Given the description of an element on the screen output the (x, y) to click on. 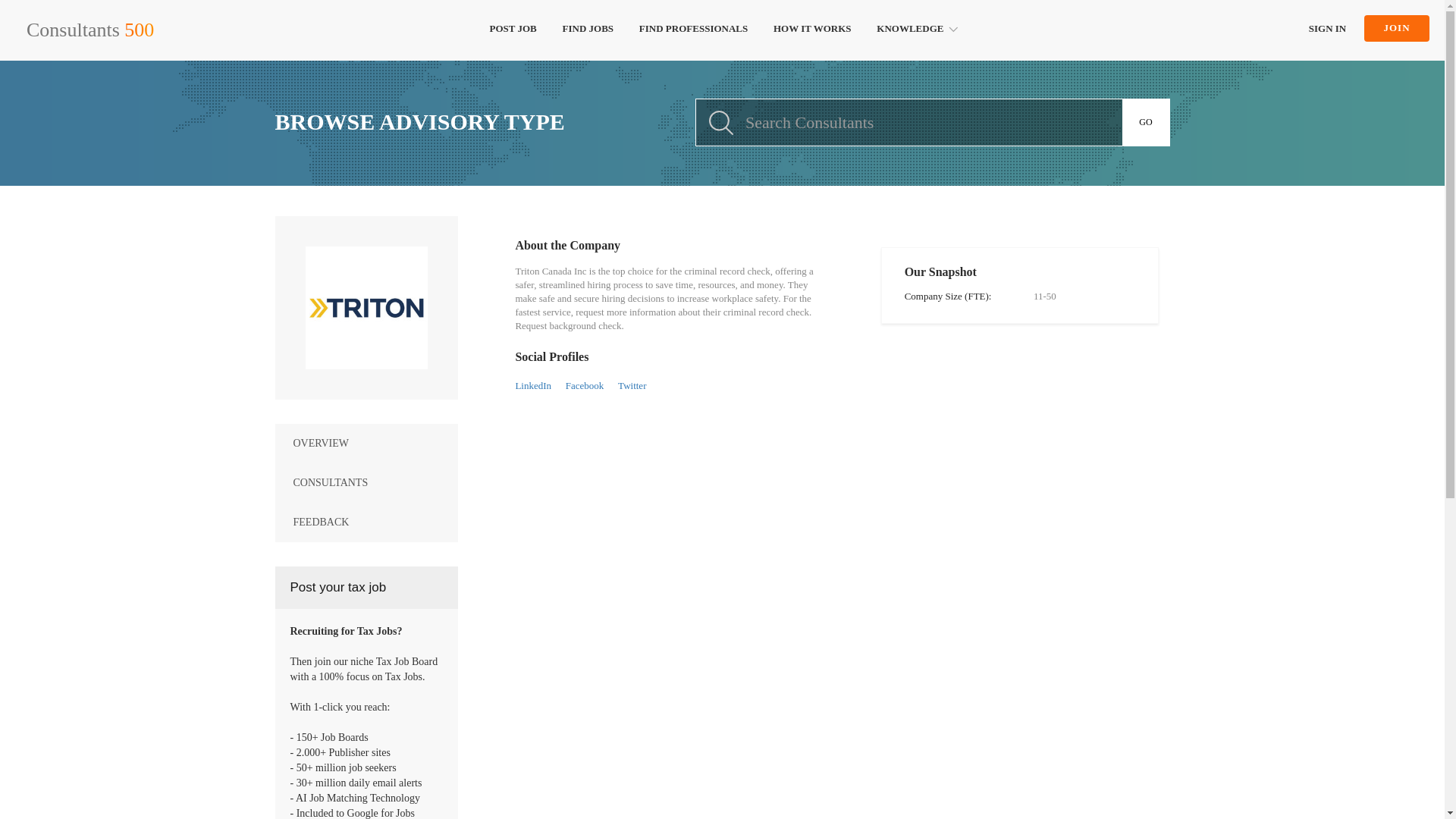
CONSULTANTS (366, 482)
HOW IT WORKS (812, 30)
JOIN (1396, 28)
Criminal Background Checks (366, 307)
Twitter (631, 385)
FIND PROFESSIONALS (692, 30)
POST JOB (513, 30)
GO (1146, 122)
Facebook (585, 385)
FIND JOBS (588, 30)
FEEDBACK (366, 522)
Consultants 500 (90, 29)
KNOWLEDGE (915, 30)
OVERVIEW (366, 443)
LinkedIn (533, 385)
